Given the description of an element on the screen output the (x, y) to click on. 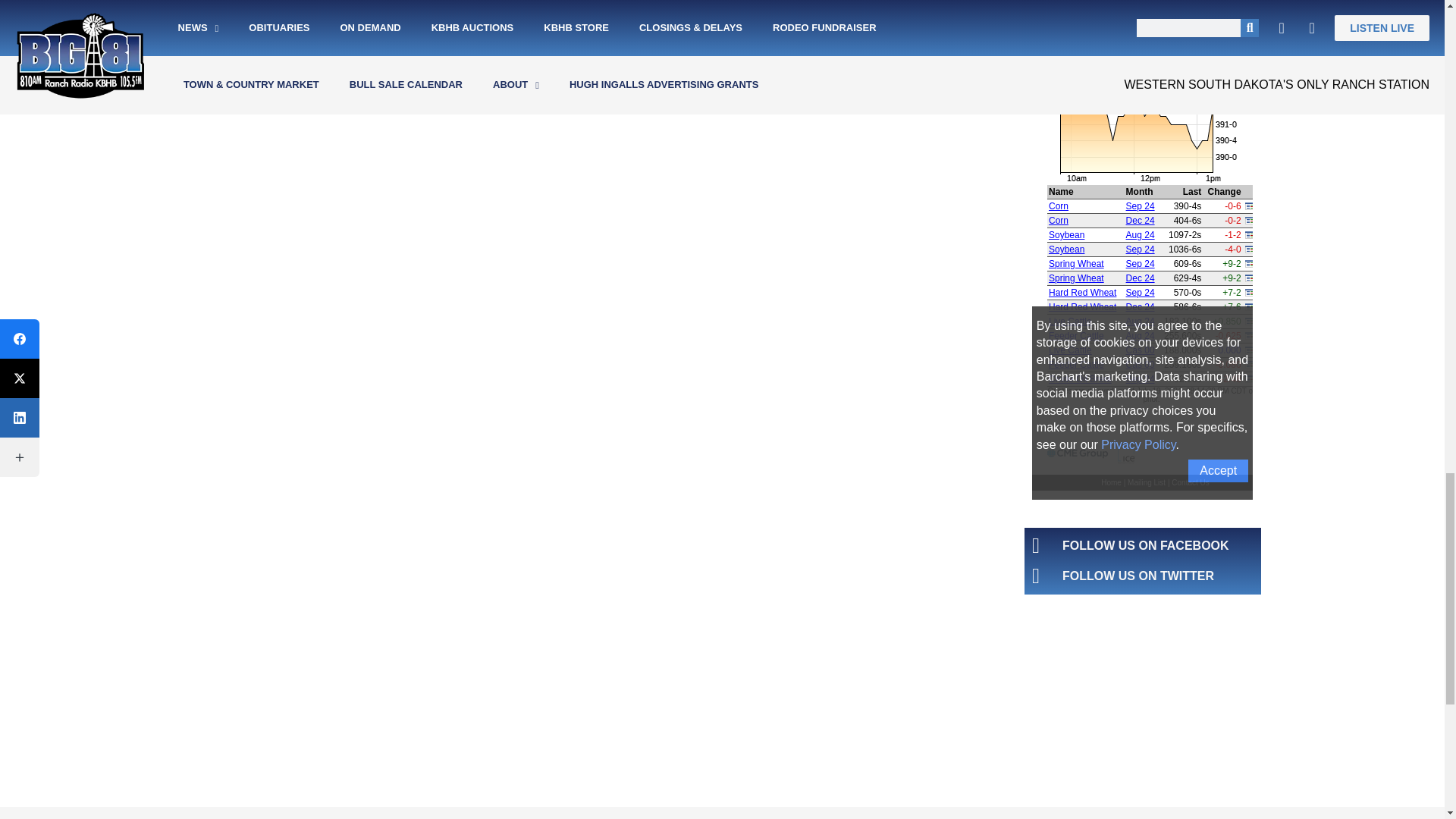
3rd party ad content (1142, 714)
